Given the description of an element on the screen output the (x, y) to click on. 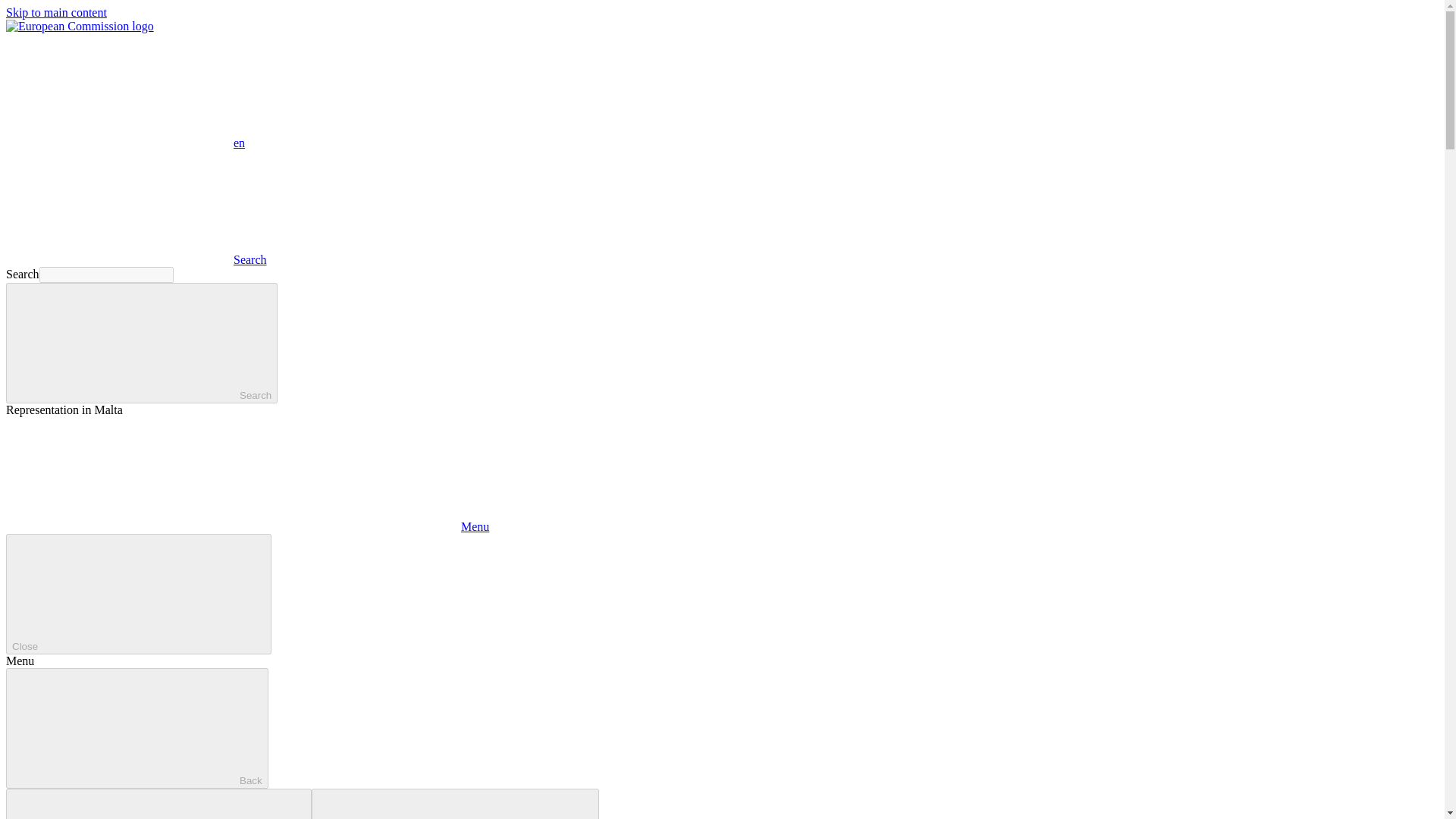
Close (137, 593)
Back (136, 728)
Previous items (158, 803)
enen (124, 142)
Skip to main content (55, 11)
Menu (247, 526)
European Commission (79, 25)
Next items (454, 803)
Search (141, 342)
en (118, 90)
Search (135, 259)
